Given the description of an element on the screen output the (x, y) to click on. 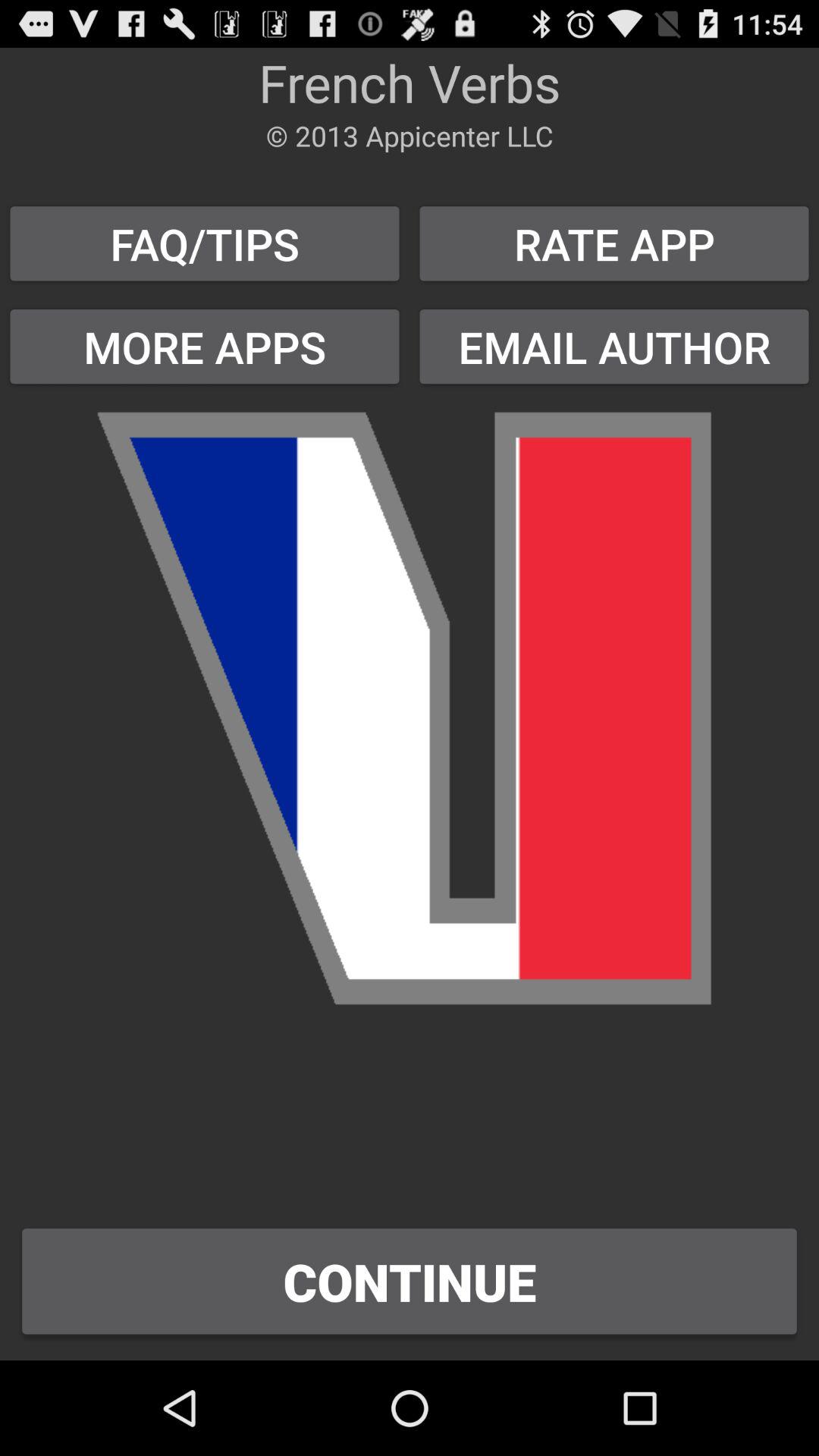
click the button next to the rate app icon (204, 346)
